Given the description of an element on the screen output the (x, y) to click on. 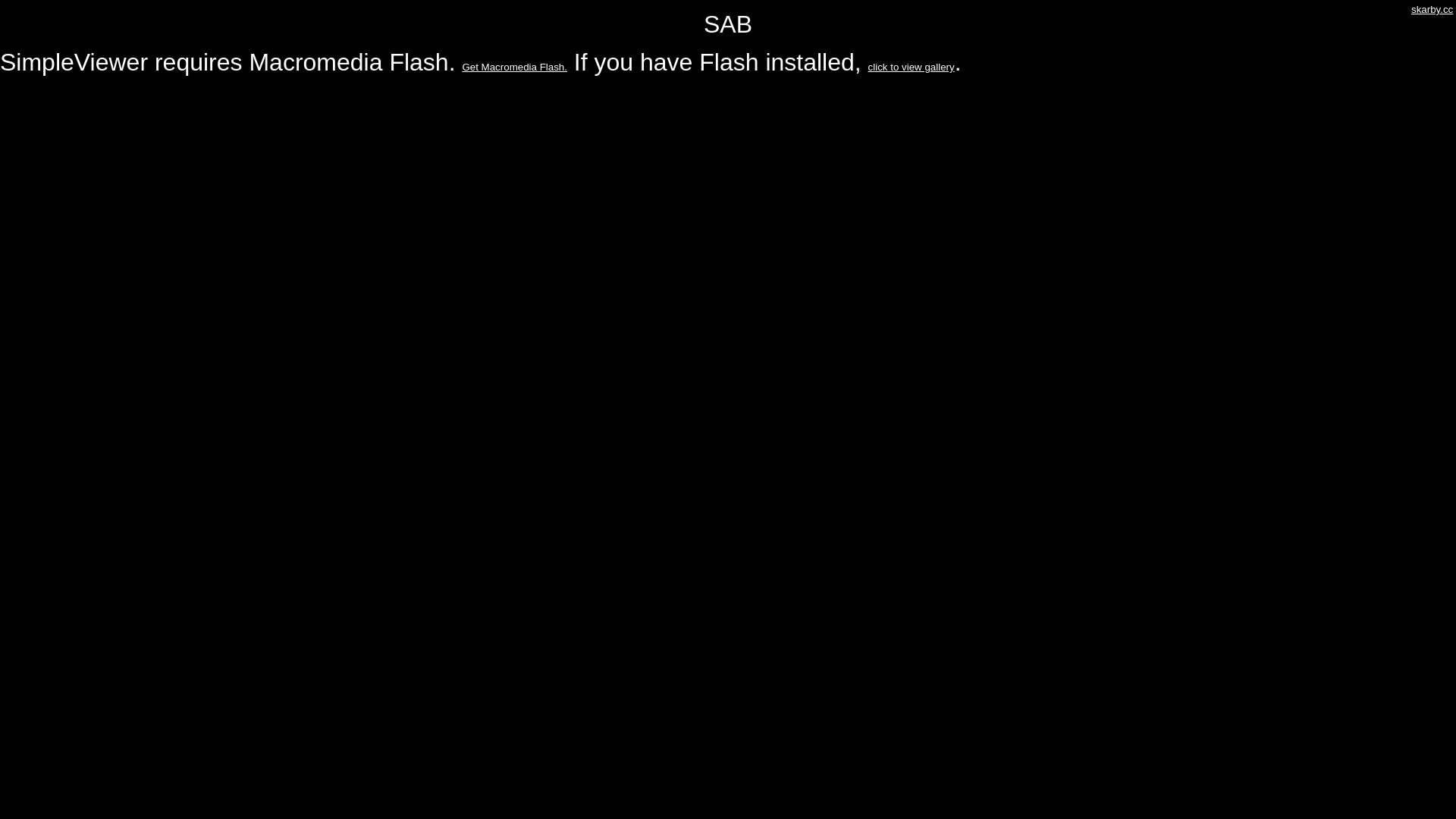
skarby.cc Element type: text (1431, 9)
Get Macromedia Flash. Element type: text (514, 66)
click to view gallery Element type: text (911, 66)
